Given the description of an element on the screen output the (x, y) to click on. 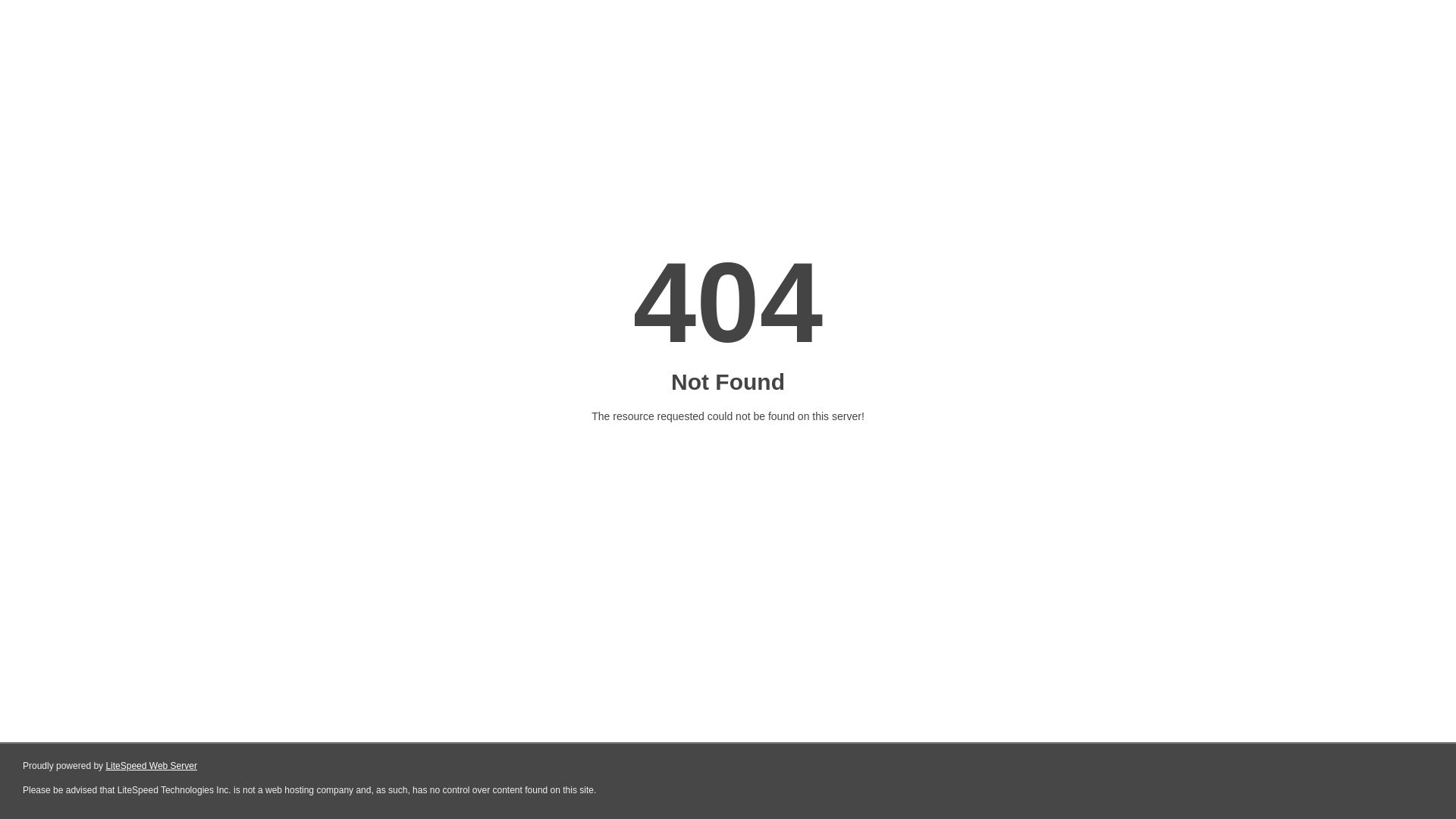
LiteSpeed Web Server Element type: text (151, 765)
